Given the description of an element on the screen output the (x, y) to click on. 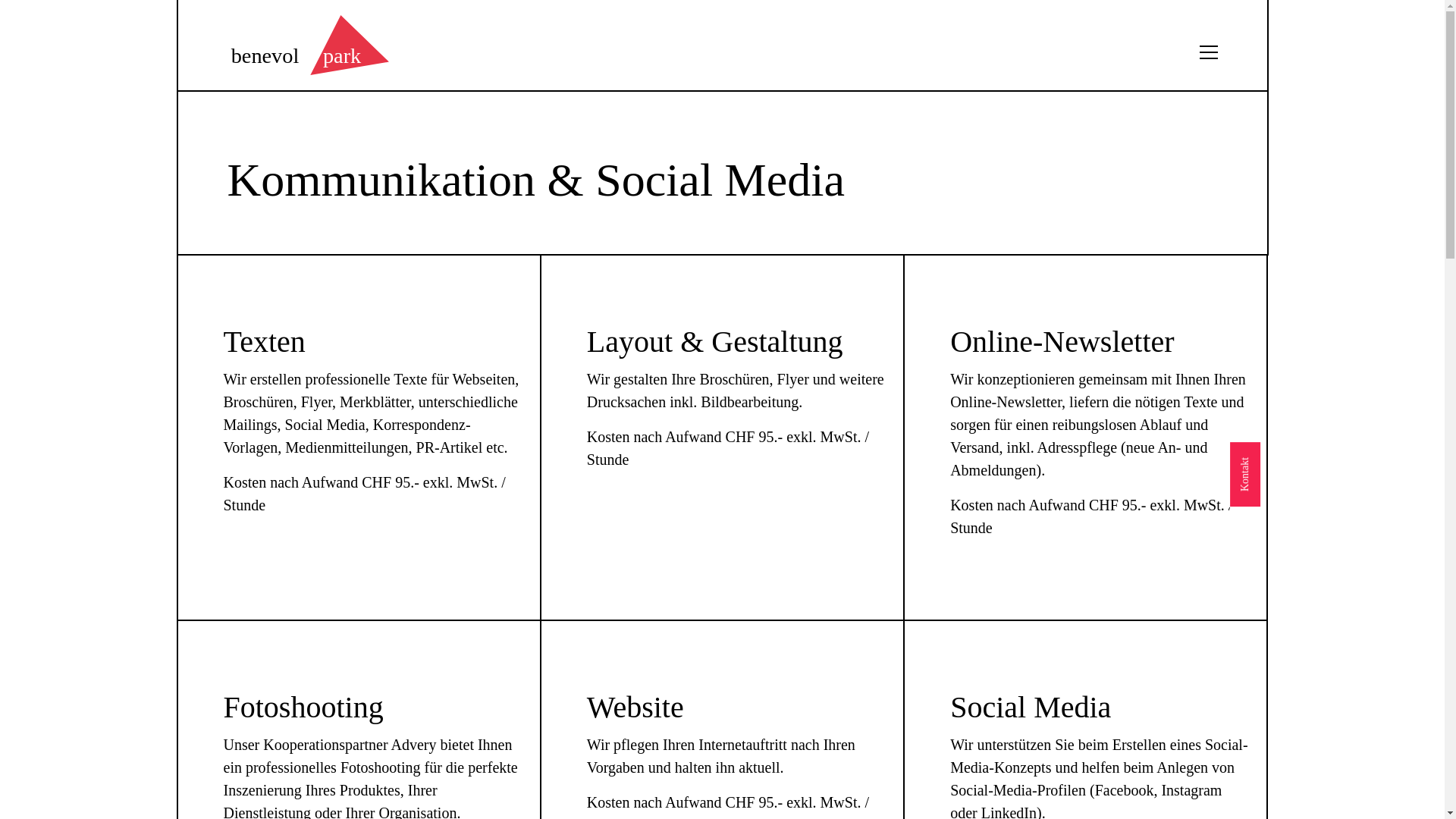
Kontakt Element type: text (1262, 457)
